Given the description of an element on the screen output the (x, y) to click on. 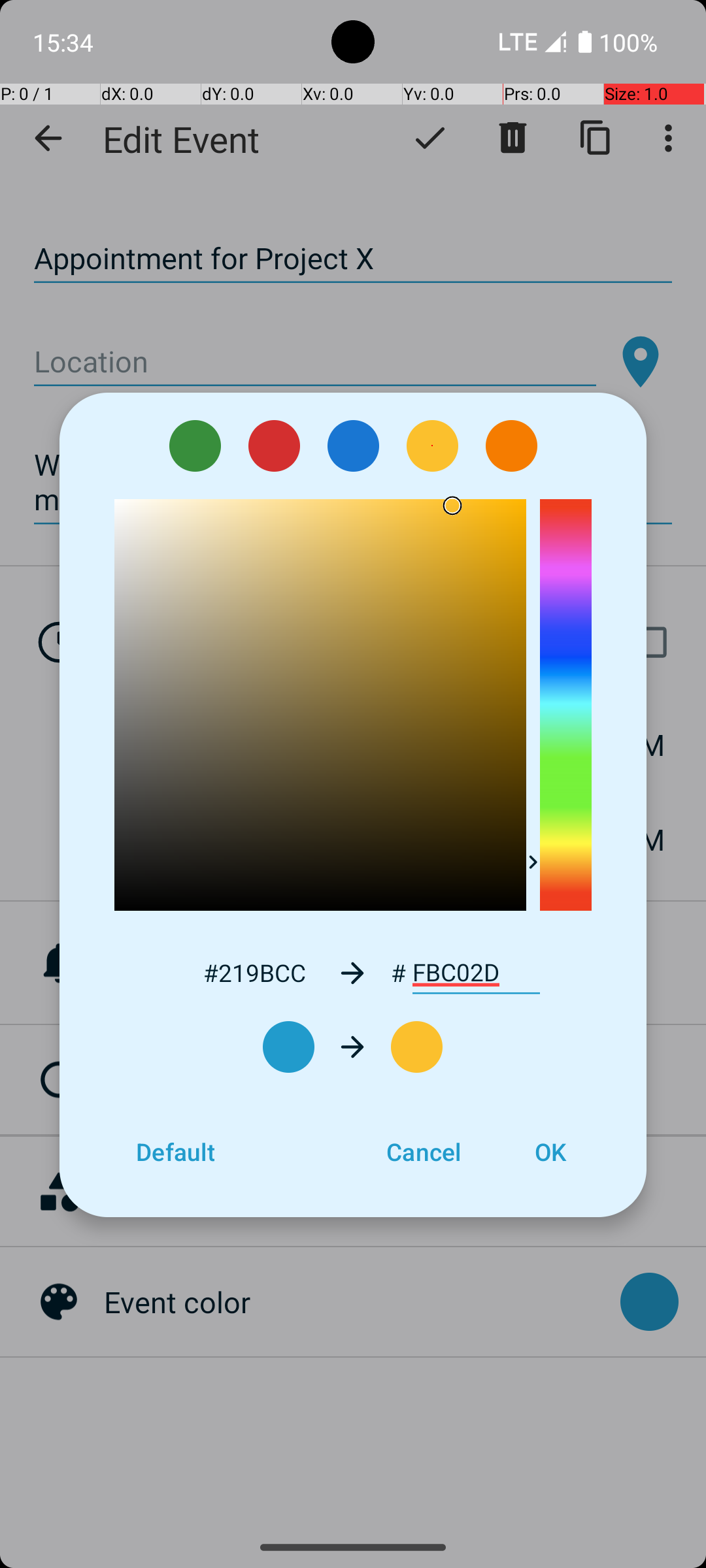
FBC02D Element type: android.widget.EditText (475, 972)
